Given the description of an element on the screen output the (x, y) to click on. 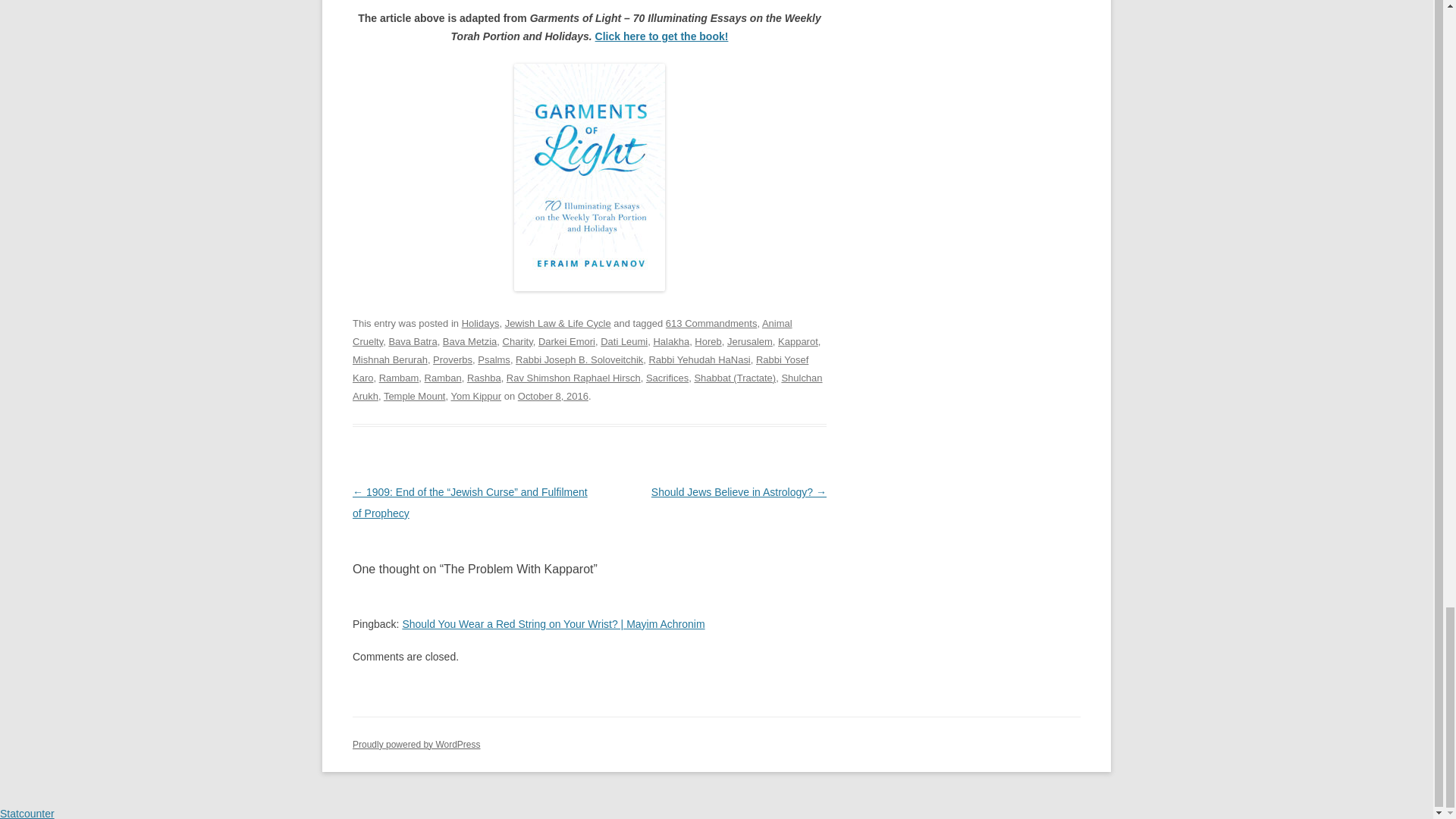
Click here to get the book! (662, 36)
Rabbi Joseph B. Soloveitchik (579, 359)
Bava Metzia (469, 341)
Proverbs (451, 359)
Darkei Emori (566, 341)
Rambam (398, 378)
Semantic Personal Publishing Platform (416, 744)
613 Commandments (711, 323)
Bava Batra (412, 341)
Charity (517, 341)
Horeb (707, 341)
Halakha (670, 341)
Holidays (480, 323)
Kapparot (797, 341)
Rabbi Yehudah HaNasi (698, 359)
